Given the description of an element on the screen output the (x, y) to click on. 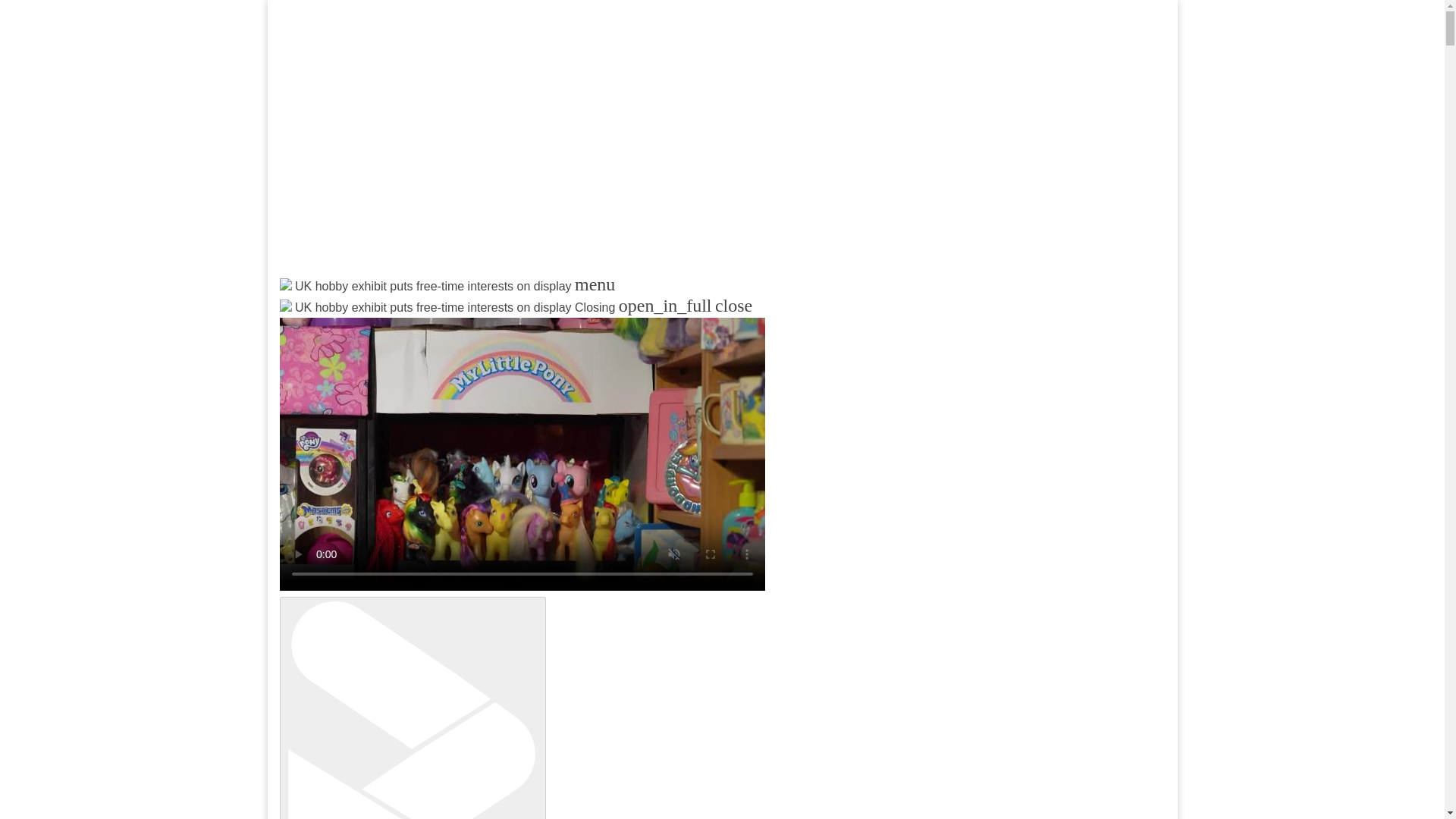
Skope Entertainment Inc (462, 323)
YouTube video player (478, 149)
Skope Entertainment Inc (462, 323)
